Given the description of an element on the screen output the (x, y) to click on. 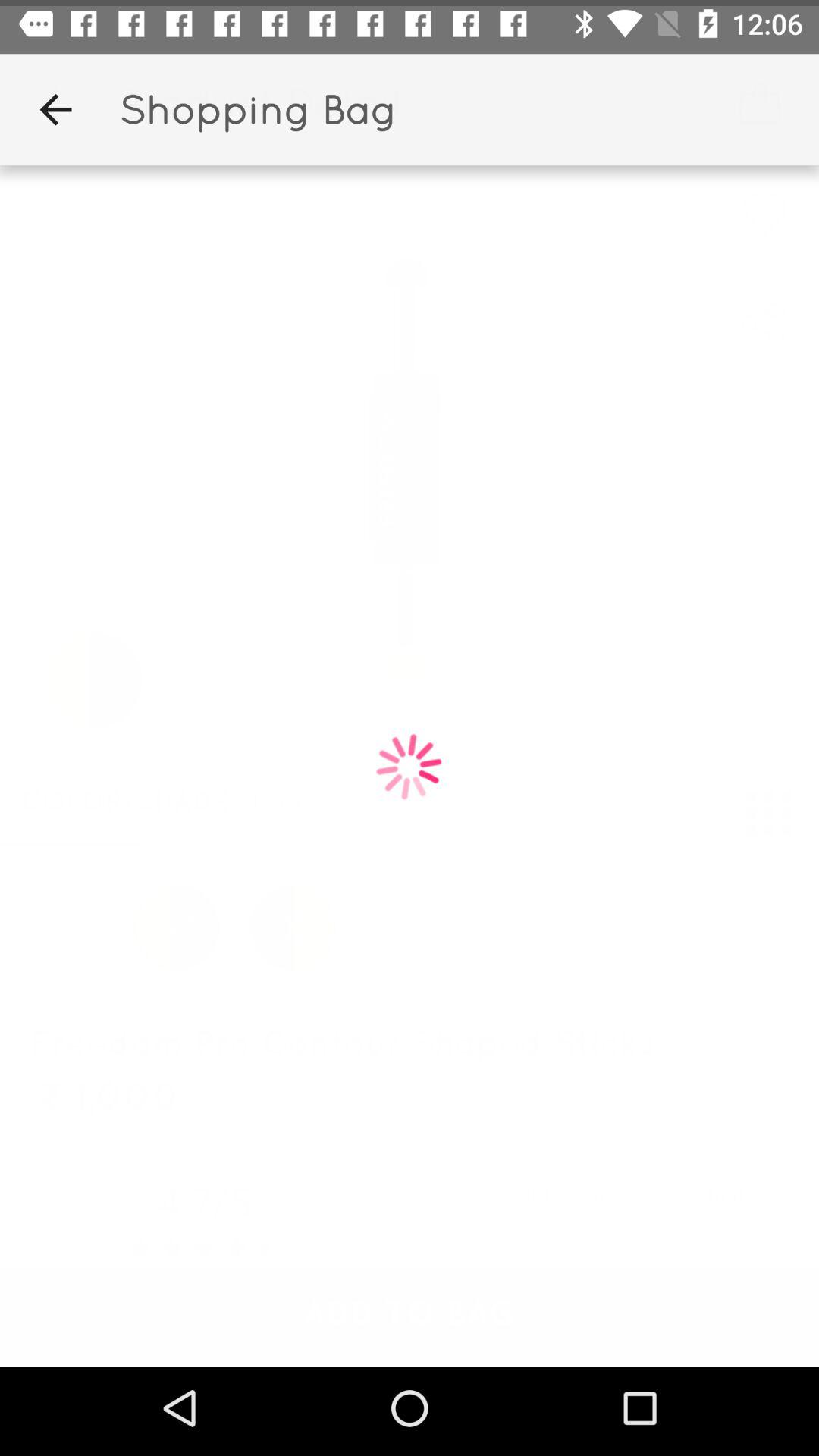
open app to the left of shopping bag icon (55, 103)
